Given the description of an element on the screen output the (x, y) to click on. 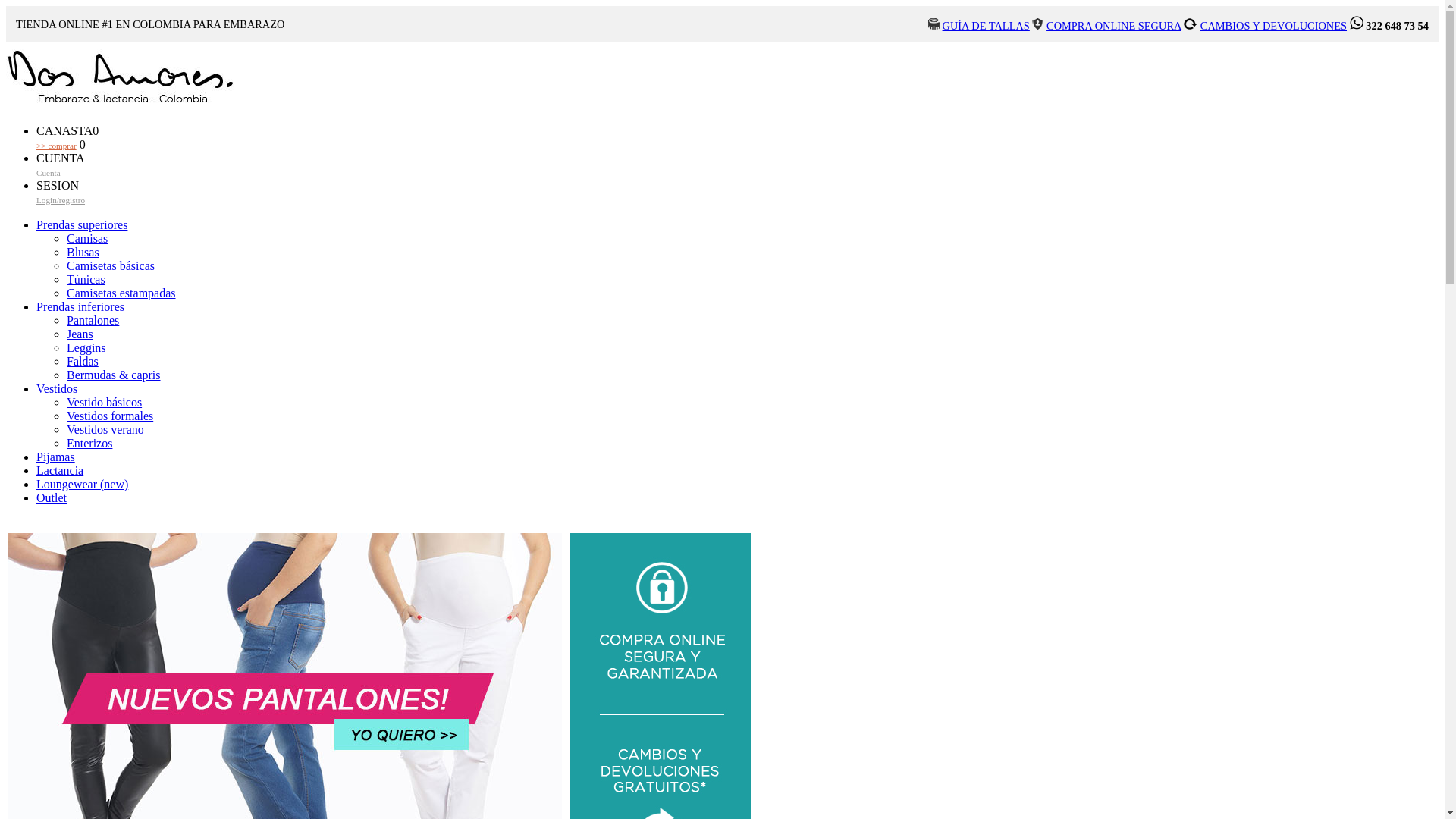
Leggins Element type: text (86, 347)
Vestidos Element type: text (56, 388)
Vestidos formales Element type: text (109, 415)
Prendas inferiores Element type: text (80, 306)
Pantalones Element type: text (92, 319)
Blusas Element type: text (82, 251)
Bermudas & capris Element type: text (113, 374)
Camisas Element type: text (86, 238)
Cuenta Element type: text (48, 172)
Prendas superiores Element type: text (81, 224)
Vestidos verano Element type: text (105, 429)
CAMBIOS Y DEVOLUCIONES Element type: text (1273, 25)
Lactancia Element type: text (59, 470)
Faldas Element type: text (82, 360)
Pijamas Element type: text (55, 456)
Outlet Element type: text (51, 497)
Loungewear (new) Element type: text (82, 483)
Enterizos Element type: text (89, 442)
Jeans Element type: text (79, 333)
>> comprar Element type: text (56, 145)
Dos Amores Element type: hover (119, 104)
COMPRA ONLINE SEGURA Element type: text (1113, 25)
Login/registro Element type: text (60, 199)
Camisetas estampadas Element type: text (120, 292)
